Given the description of an element on the screen output the (x, y) to click on. 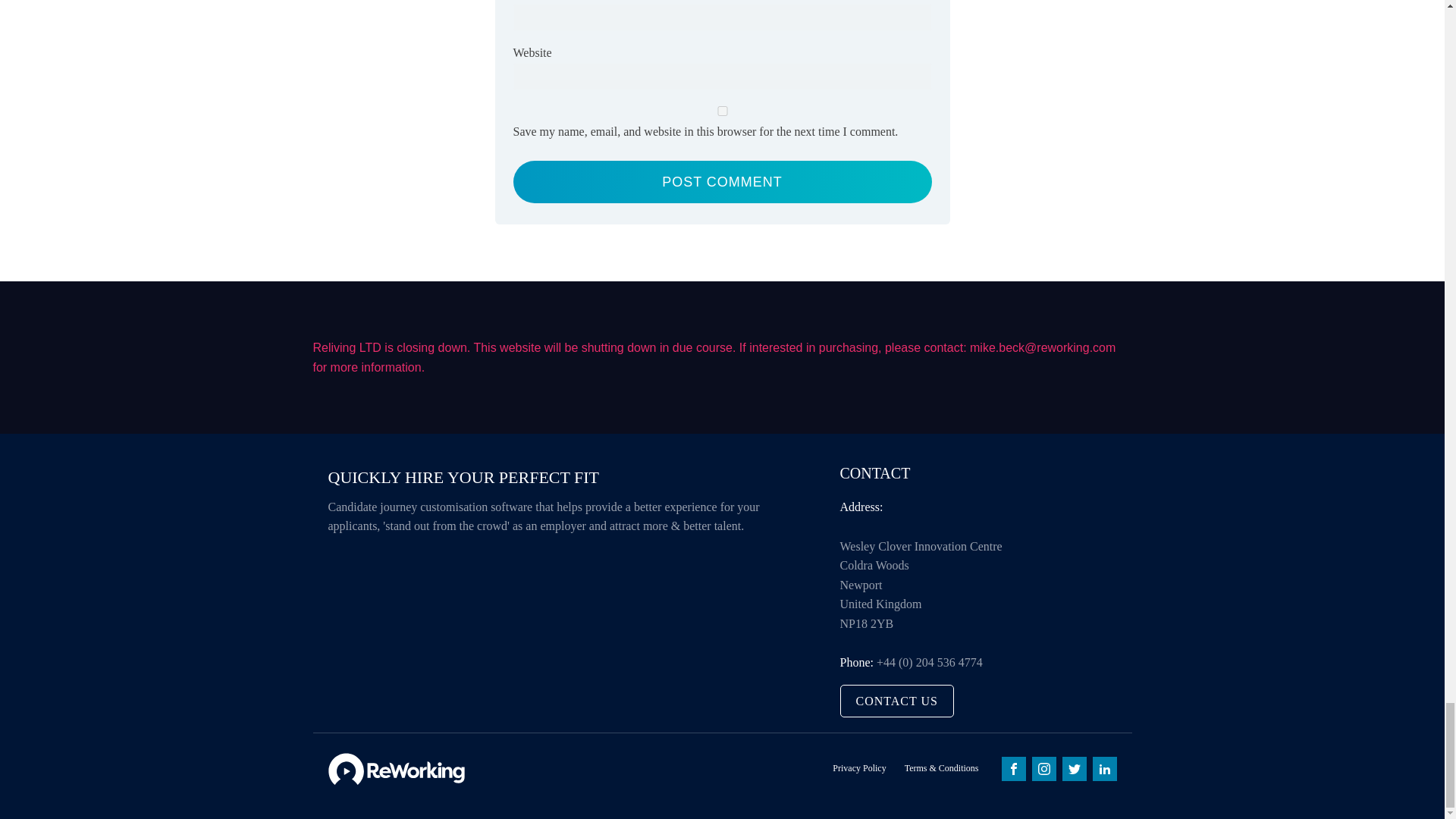
Post Comment (721, 181)
yes (721, 111)
Privacy Policy (858, 768)
Post Comment (721, 181)
CONTACT US (896, 701)
